Given the description of an element on the screen output the (x, y) to click on. 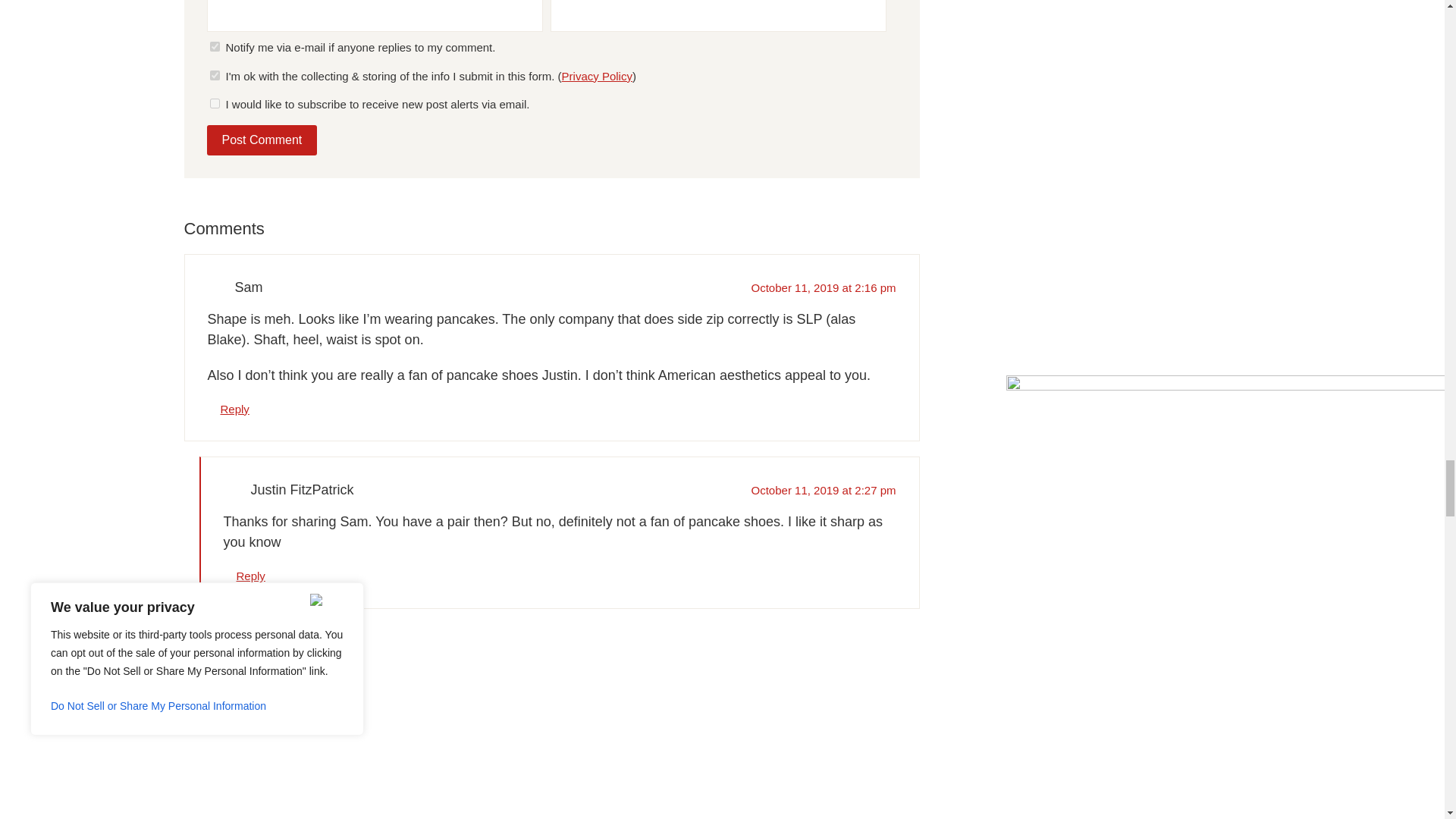
Post Comment (261, 140)
yes (214, 103)
yes (214, 75)
Privacy Policy (596, 75)
on (214, 46)
